Given the description of an element on the screen output the (x, y) to click on. 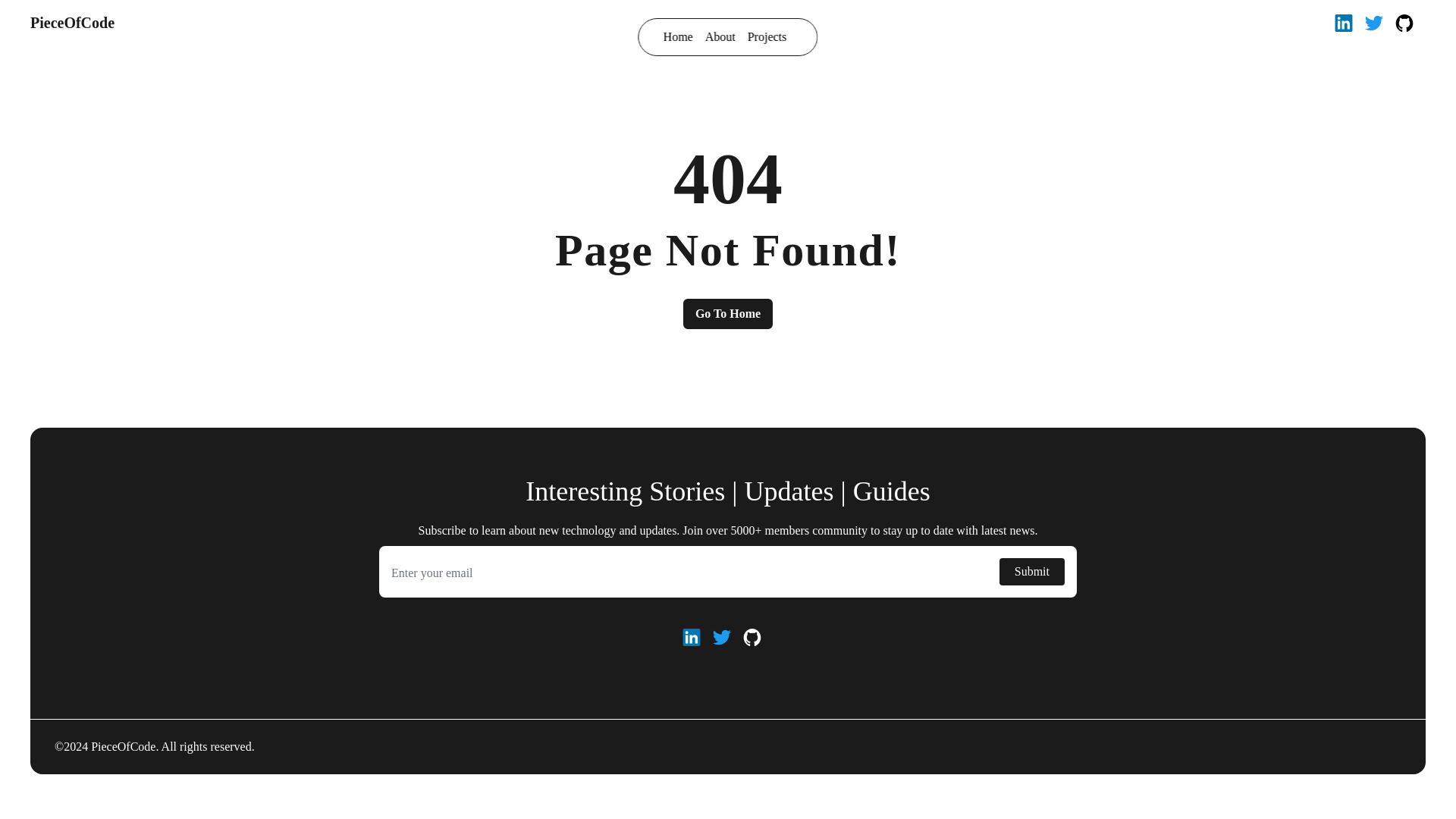
PieceOfCode (72, 22)
Home (678, 36)
Projects (767, 36)
Go To Home (727, 313)
About (719, 36)
Submit (1031, 571)
